Given the description of an element on the screen output the (x, y) to click on. 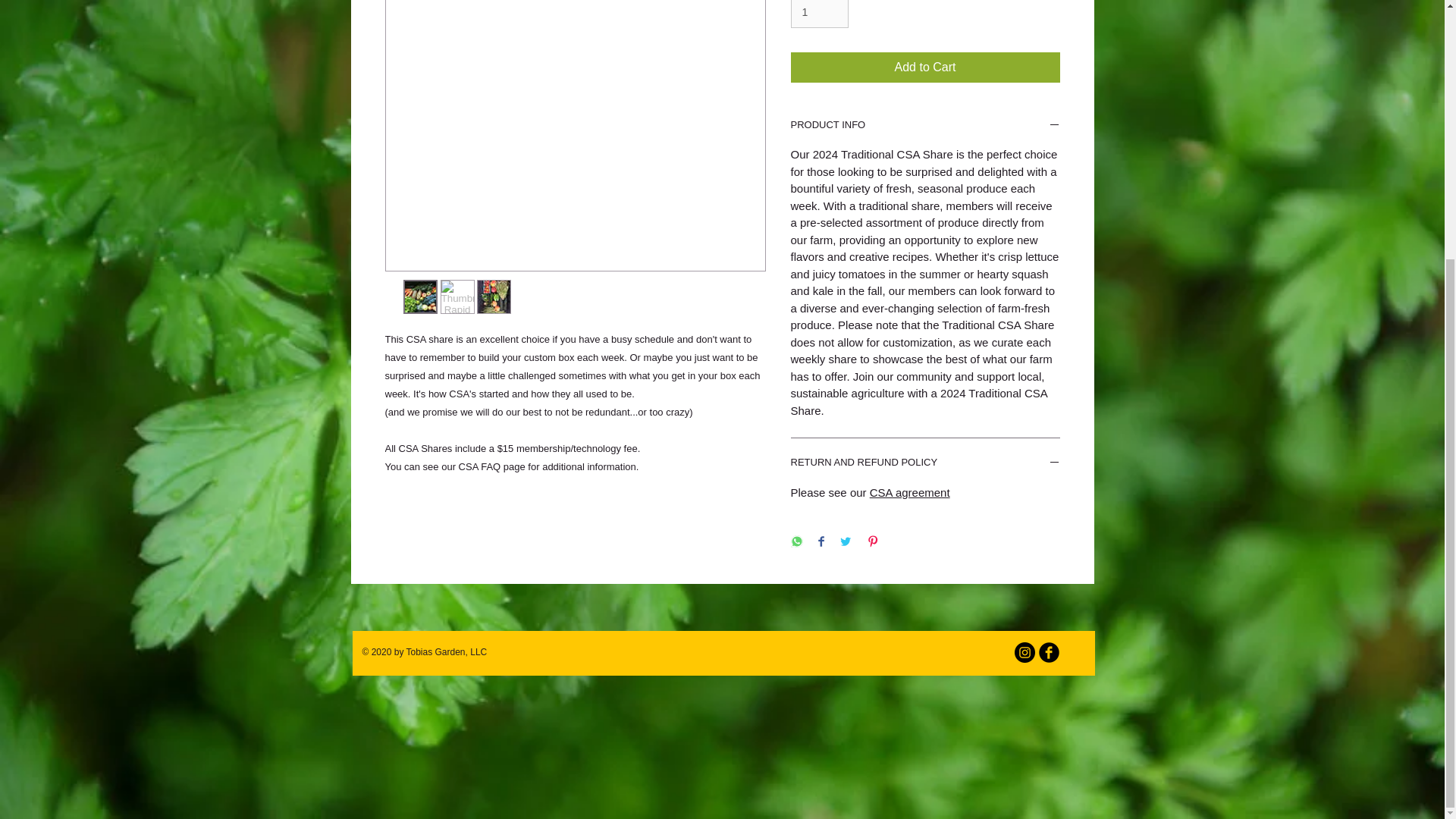
Add to Cart (924, 67)
1 (818, 13)
CSA agreement (909, 492)
RETURN AND REFUND POLICY (924, 463)
PRODUCT INFO (924, 126)
